Given the description of an element on the screen output the (x, y) to click on. 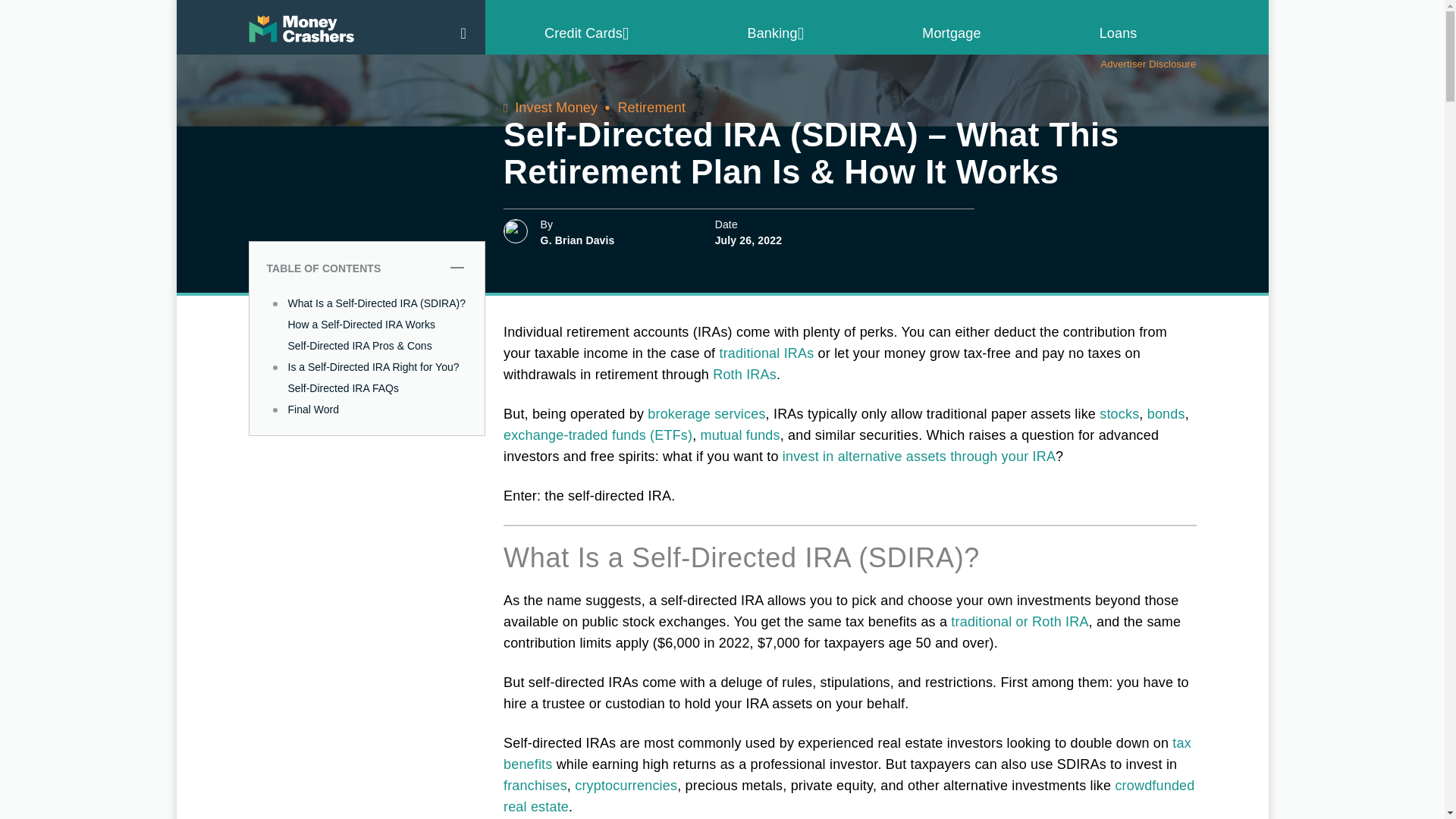
Credit Cards (586, 33)
Loans (1118, 33)
Banking (776, 33)
Mortgage (950, 33)
